Given the description of an element on the screen output the (x, y) to click on. 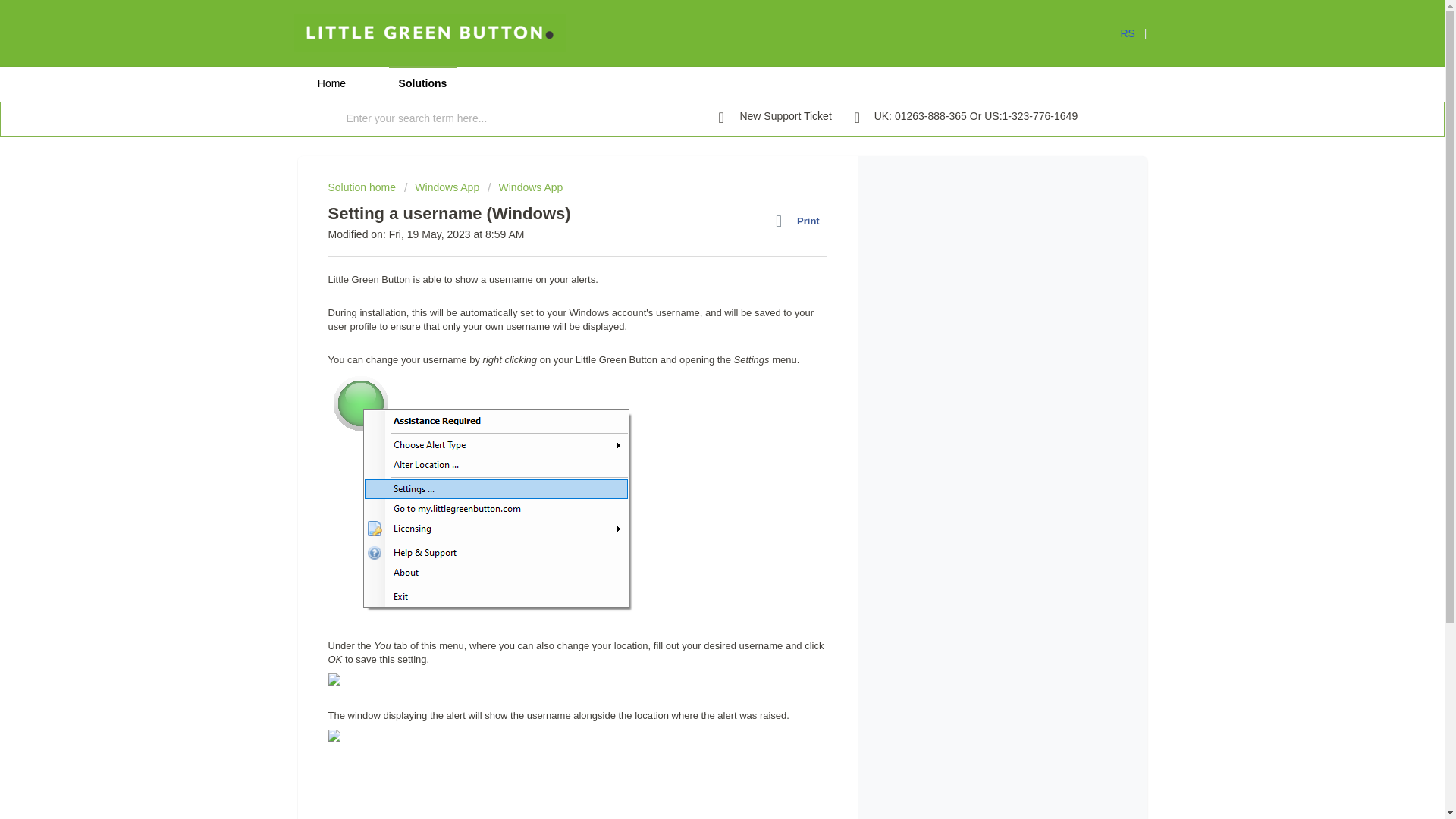
UK: 01263-888-365 Or US:1-323-776-1649 (965, 117)
Home (331, 83)
Print this Article (801, 220)
Solution home (362, 186)
RS (1133, 33)
Remote Support Session (1133, 33)
New Support Ticket (775, 116)
Windows App (441, 186)
Windows App (524, 186)
New support ticket (775, 116)
